Given the description of an element on the screen output the (x, y) to click on. 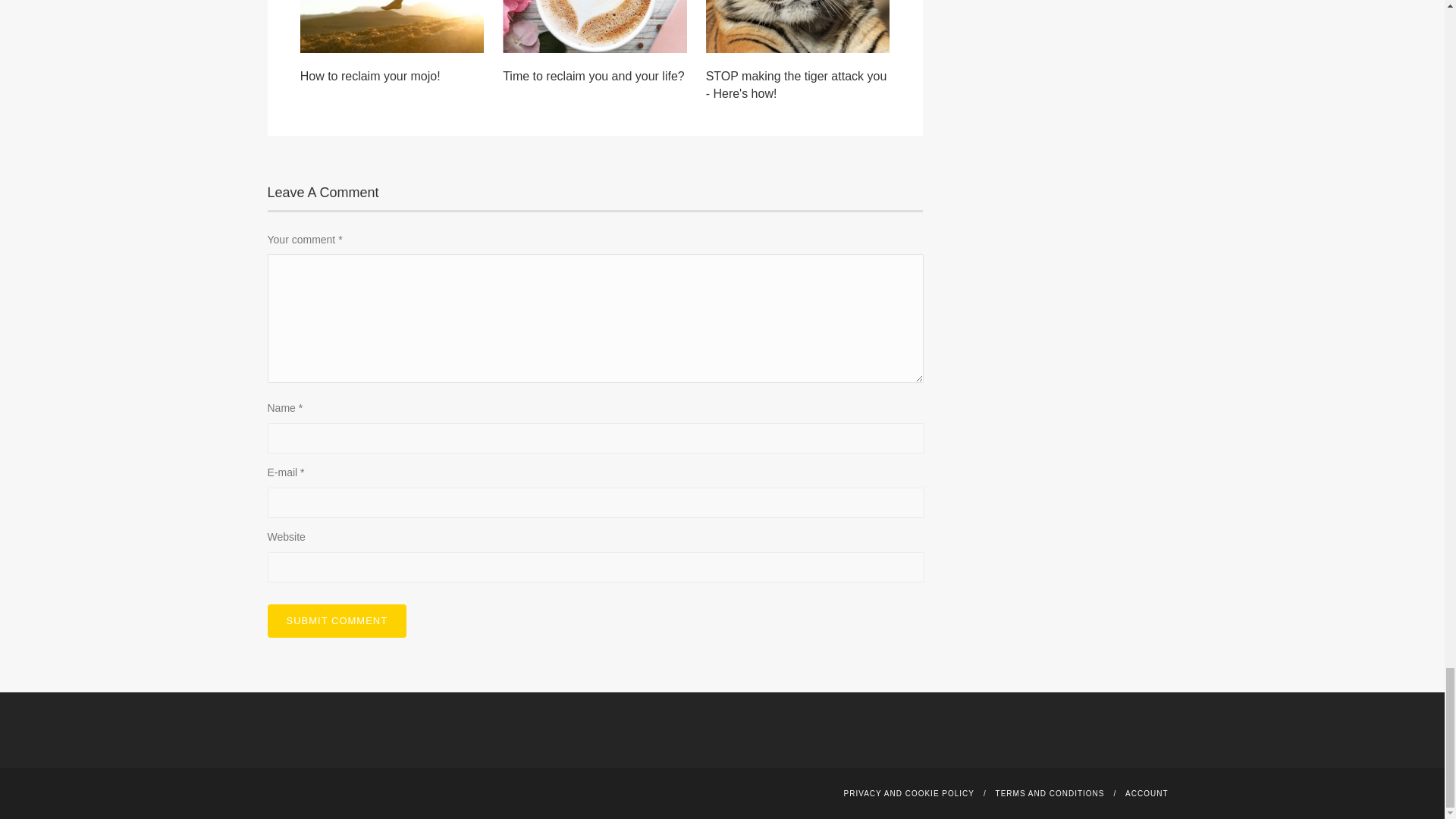
Submit comment (336, 621)
